Given the description of an element on the screen output the (x, y) to click on. 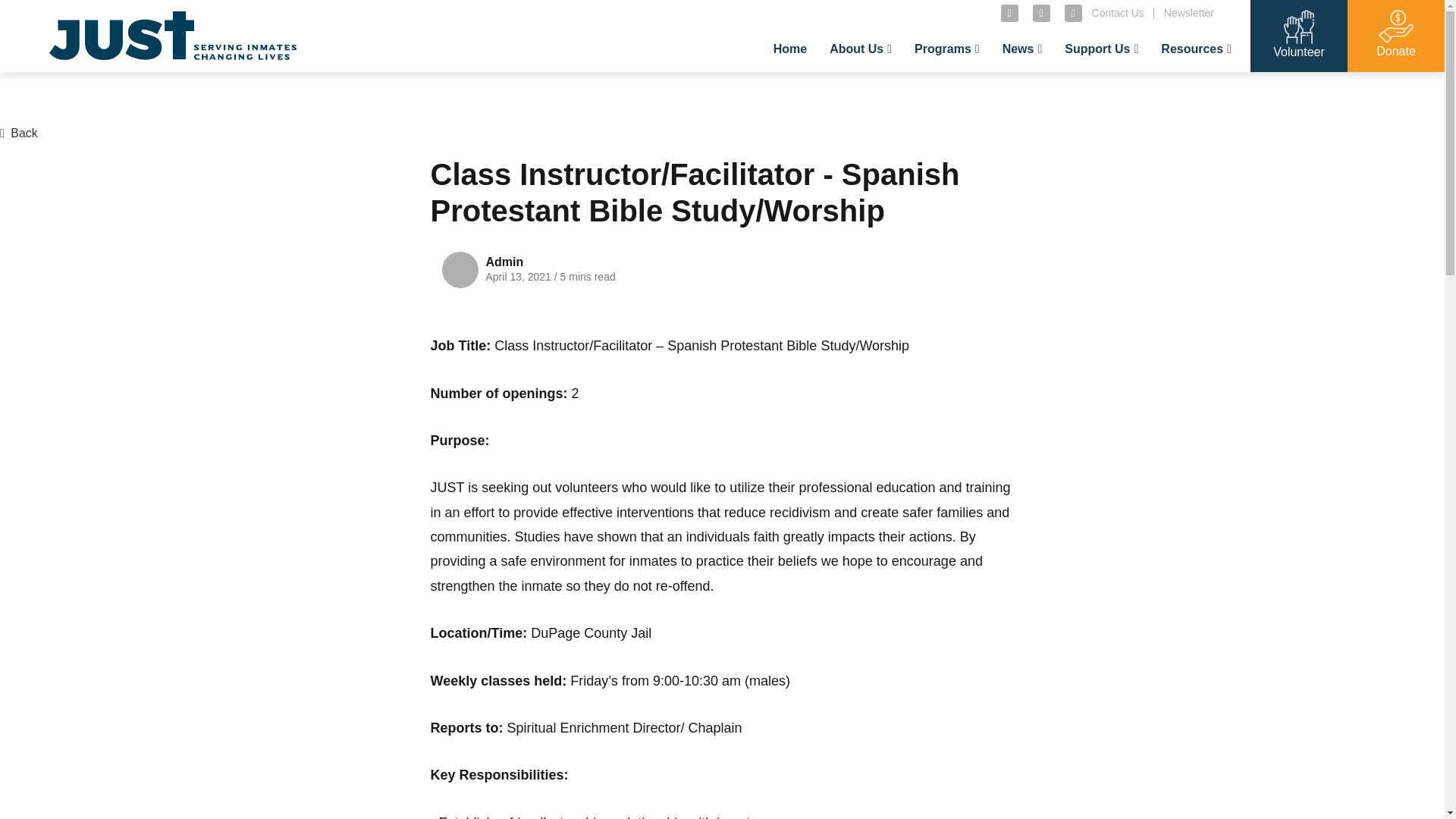
Our History (927, 87)
Programs (946, 49)
Volunteer (1170, 87)
About Us (860, 49)
Resources (1195, 49)
Volunteer (1299, 49)
Education and Vocational Skills (1026, 95)
Our Team (919, 87)
Families of the Incarcerated (1272, 87)
Programs Overview (1003, 87)
Legal Documents (1287, 87)
Housing (1259, 87)
Contact Us (1118, 12)
Donate (1163, 87)
Blog (1091, 87)
